Given the description of an element on the screen output the (x, y) to click on. 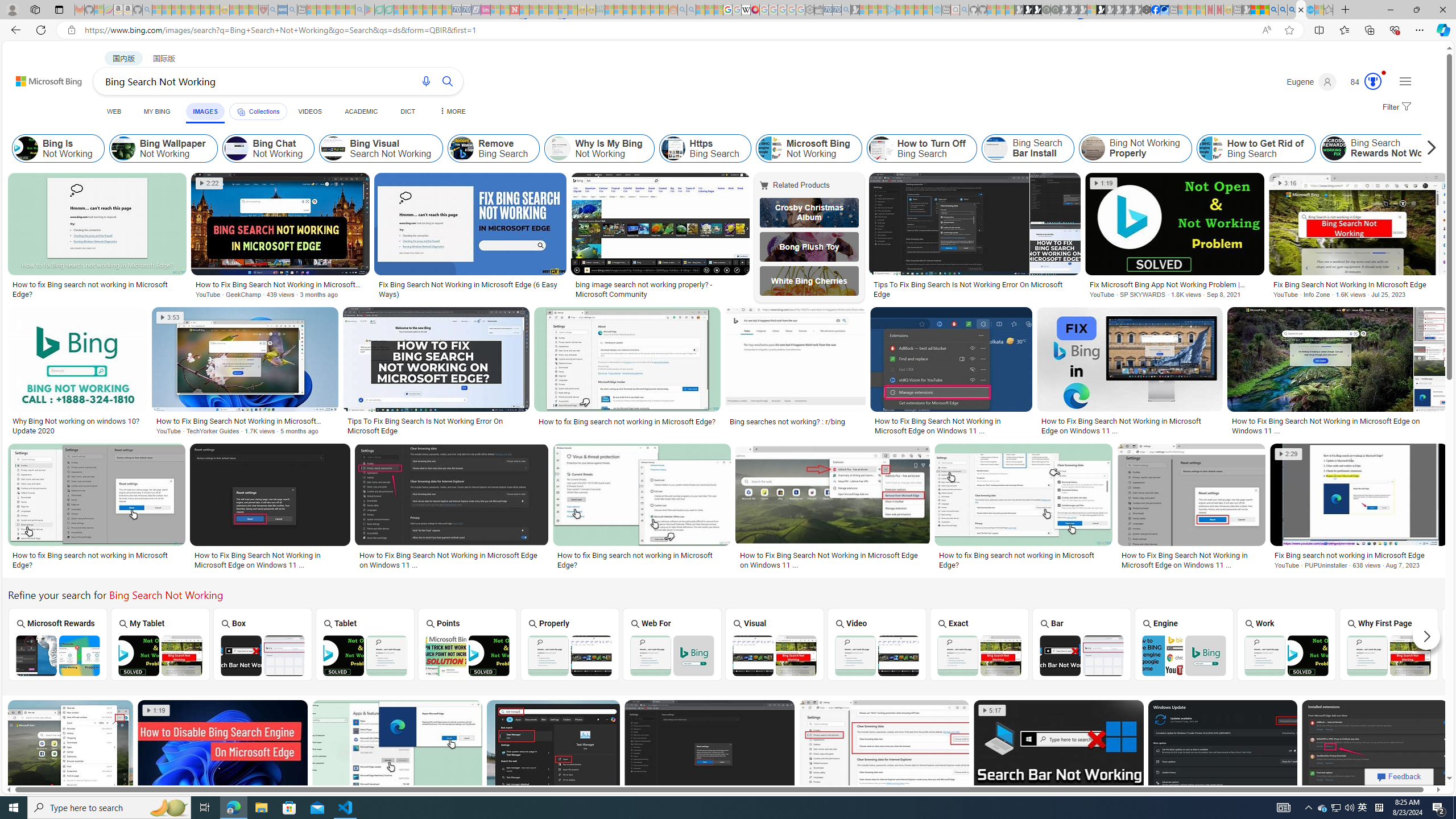
Fix Bing Search Not Working In Microsoft Edge (1358, 284)
Class: b_pri_nav_svg (240, 112)
Animation (1383, 72)
Bing Search Bar Not Working Bar (1081, 643)
Remove Bing Search (494, 148)
Bing Search the Web for Image Not Working (671, 655)
Box (262, 643)
